Given the description of an element on the screen output the (x, y) to click on. 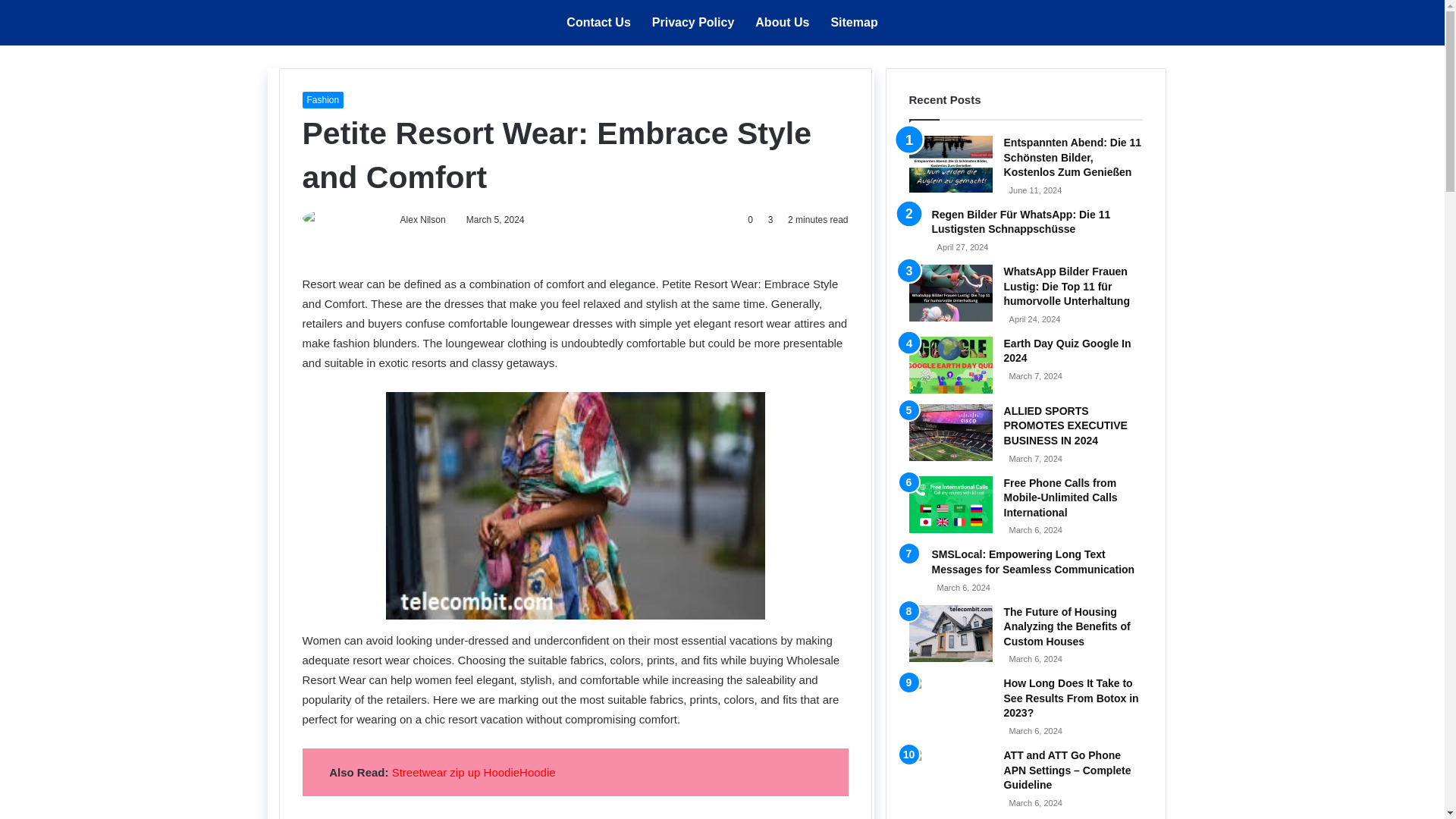
Fashion (322, 99)
Streetwear zip up HoodieHoodie (473, 771)
About Us (781, 22)
Privacy Policy (693, 22)
Sitemap (853, 22)
Contact Us (598, 22)
